Given the description of an element on the screen output the (x, y) to click on. 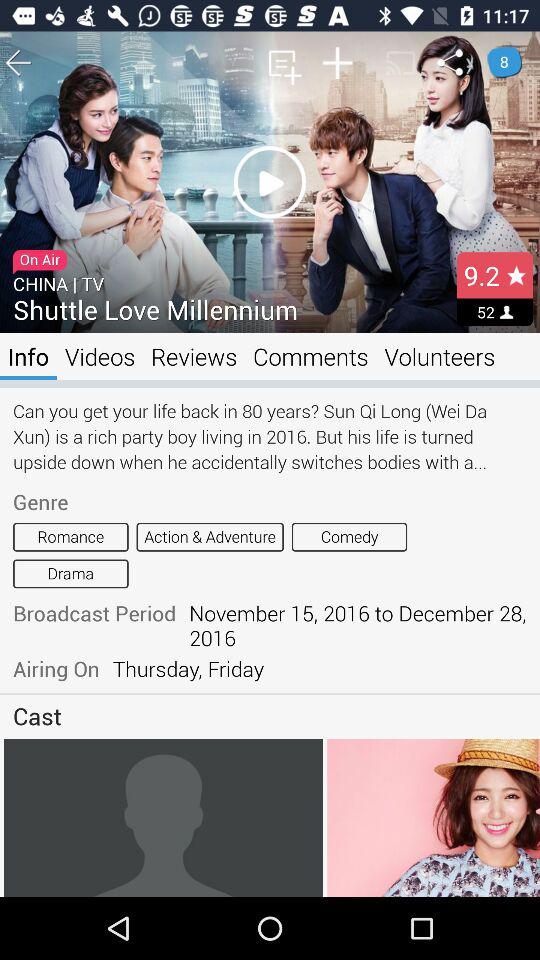
turn off romance button (70, 536)
